Given the description of an element on the screen output the (x, y) to click on. 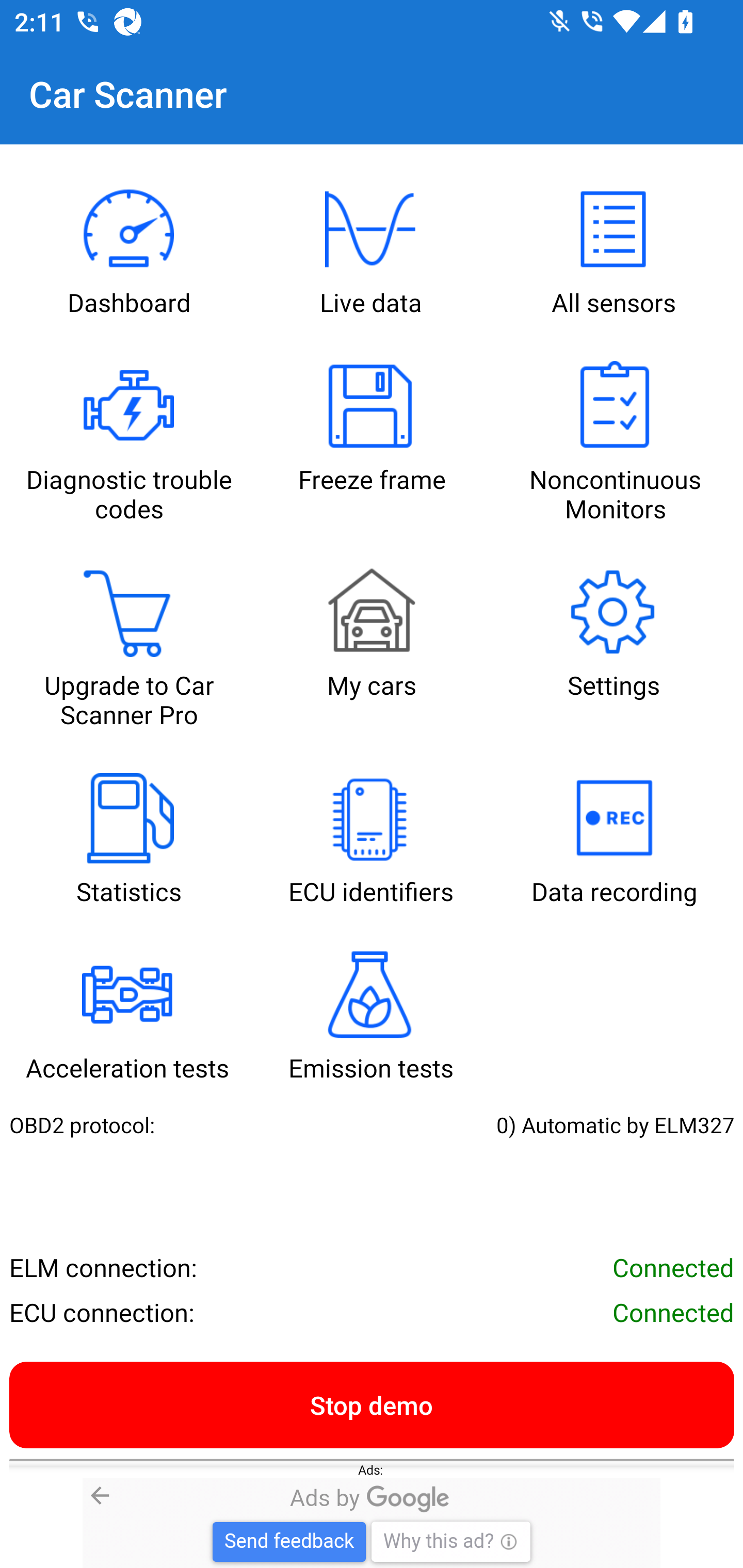
Stop demo (371, 1404)
